Given the description of an element on the screen output the (x, y) to click on. 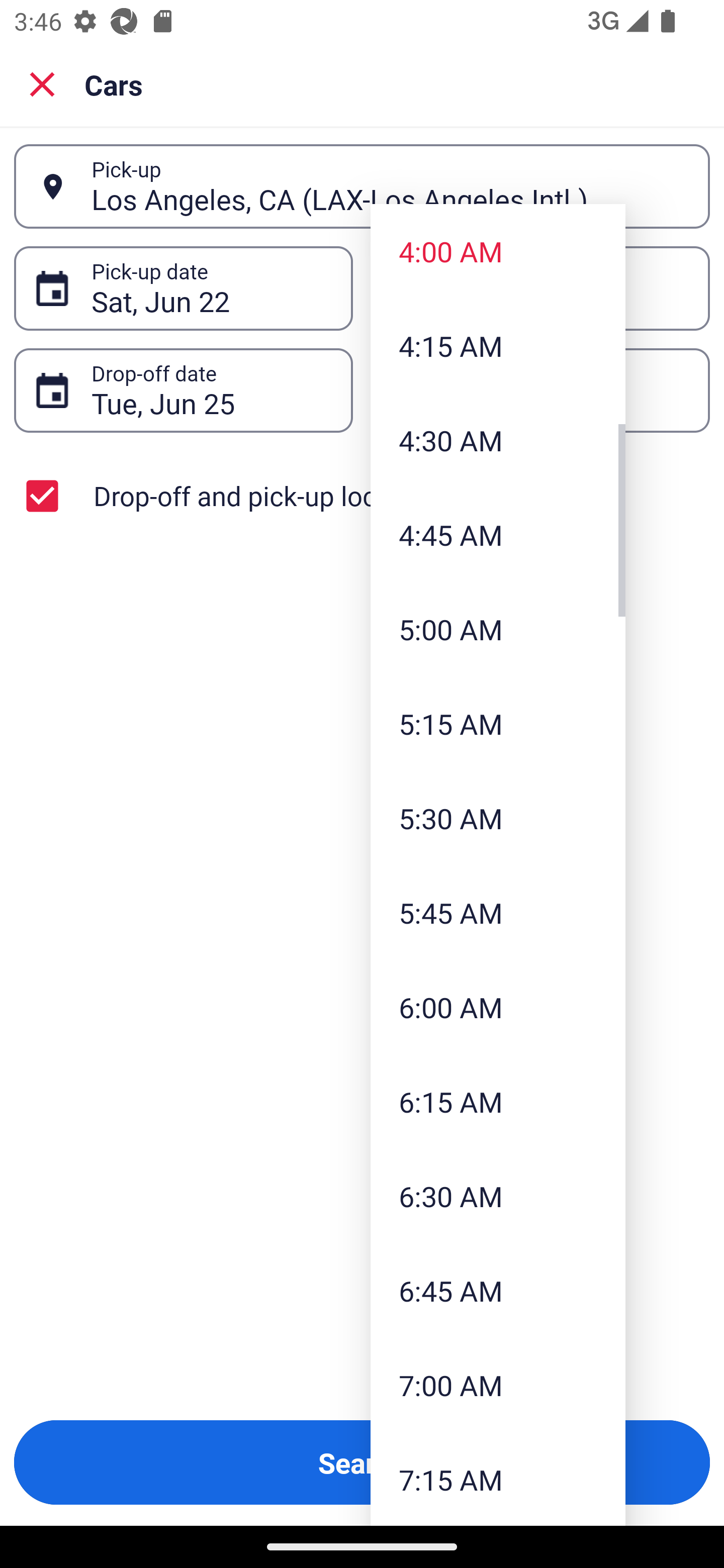
4:00 AM (497, 250)
4:15 AM (497, 345)
4:30 AM (497, 440)
4:45 AM (497, 534)
5:00 AM (497, 628)
5:15 AM (497, 723)
5:30 AM (497, 818)
5:45 AM (497, 912)
6:00 AM (497, 1006)
6:15 AM (497, 1101)
6:30 AM (497, 1196)
6:45 AM (497, 1290)
7:00 AM (497, 1384)
7:15 AM (497, 1478)
